Given the description of an element on the screen output the (x, y) to click on. 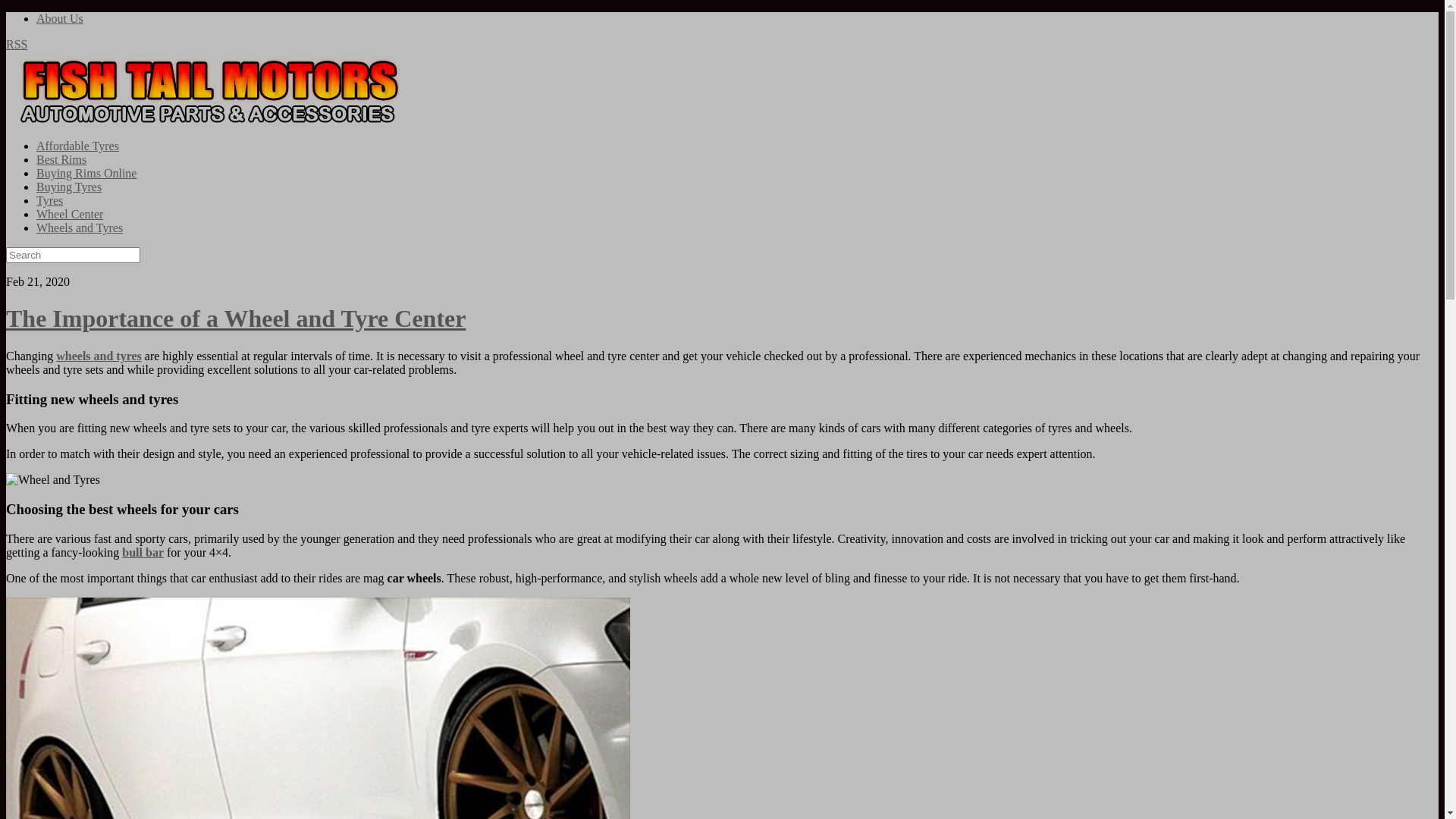
wheels and tyres Element type: text (98, 355)
Buying Rims Online Element type: text (86, 172)
Wheels and Tyres Element type: text (79, 227)
Tyres Element type: text (49, 200)
Wheel Center Element type: text (69, 213)
About Us Element type: text (59, 18)
Buying Tyres Element type: text (68, 186)
Best Rims Element type: text (61, 159)
RSS Element type: text (16, 43)
bull bar Element type: text (142, 552)
Fish tail Motors Element type: hover (214, 122)
Affordable Tyres Element type: text (77, 145)
The Importance of a Wheel and Tyre Center Element type: text (235, 318)
